Given the description of an element on the screen output the (x, y) to click on. 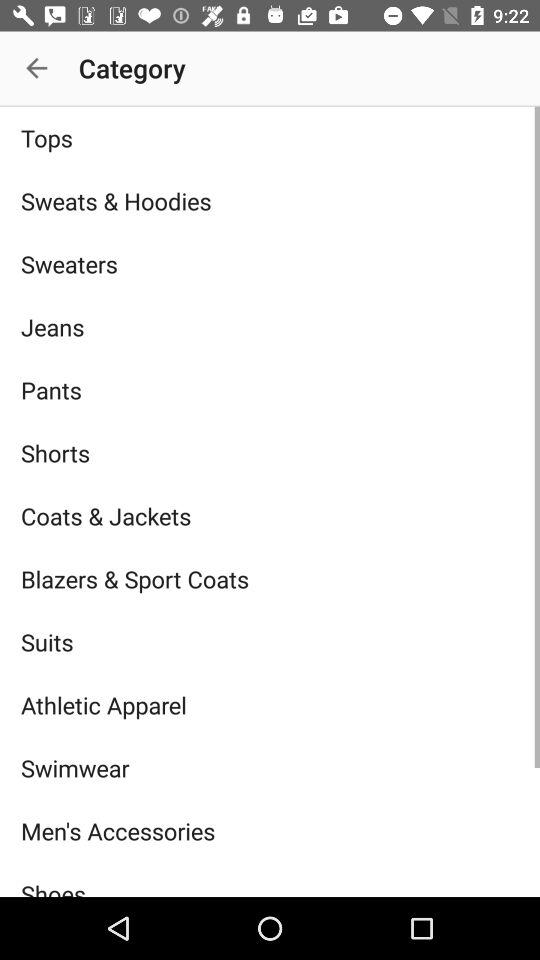
turn off icon next to the category app (36, 68)
